Given the description of an element on the screen output the (x, y) to click on. 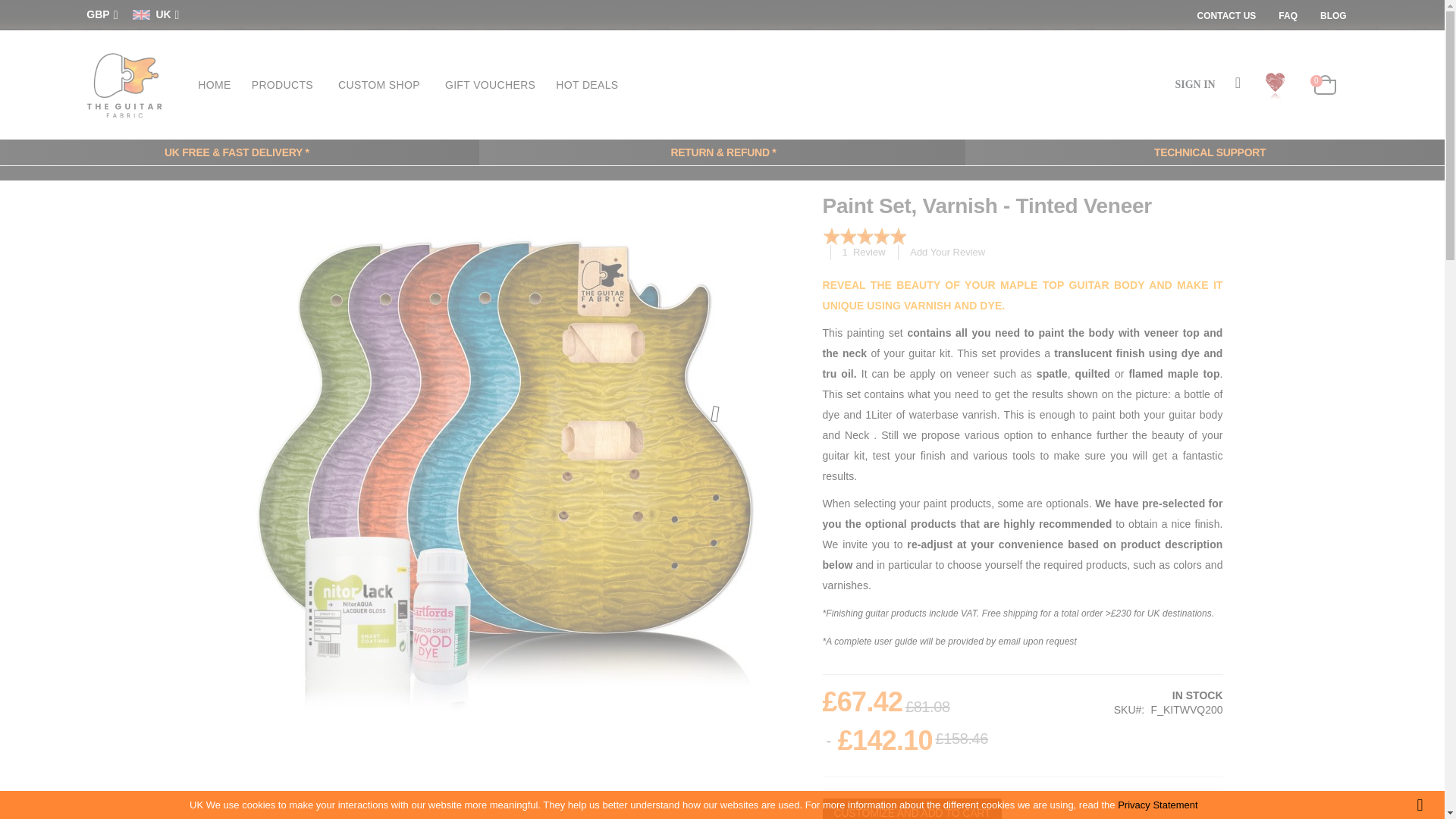
CONTACT US (1232, 15)
PRODUCTS (284, 84)
The Guitar Fabric (123, 84)
BLOG (1333, 15)
HOME (214, 84)
FAQ (1287, 15)
PRODUCTS (284, 84)
